Given the description of an element on the screen output the (x, y) to click on. 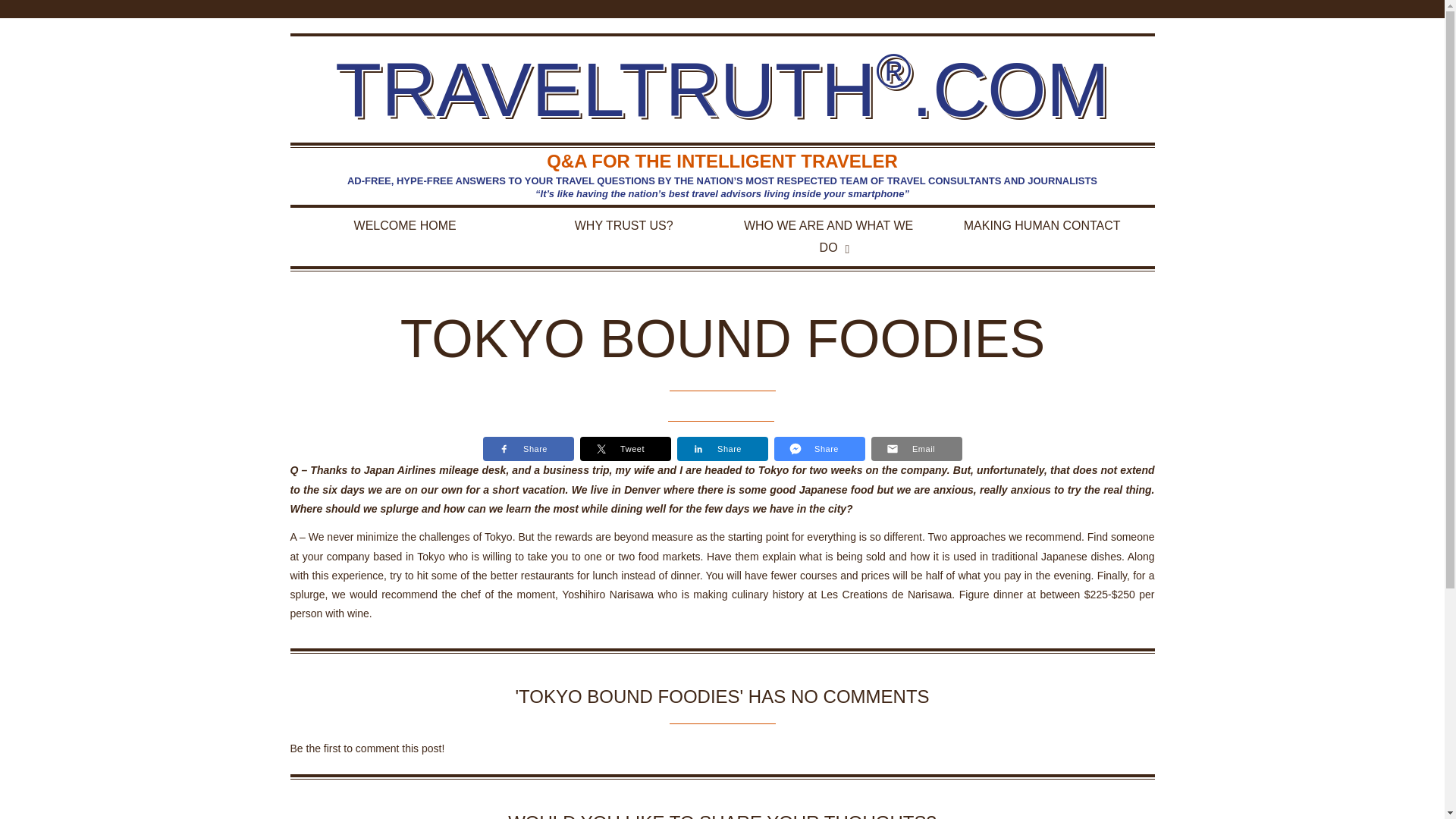
WHO WE ARE AND WHAT WE DO (827, 237)
Go back to home (721, 90)
WHY TRUST US? (623, 226)
WELCOME HOME (404, 226)
MAKING HUMAN CONTACT (1042, 226)
